Given the description of an element on the screen output the (x, y) to click on. 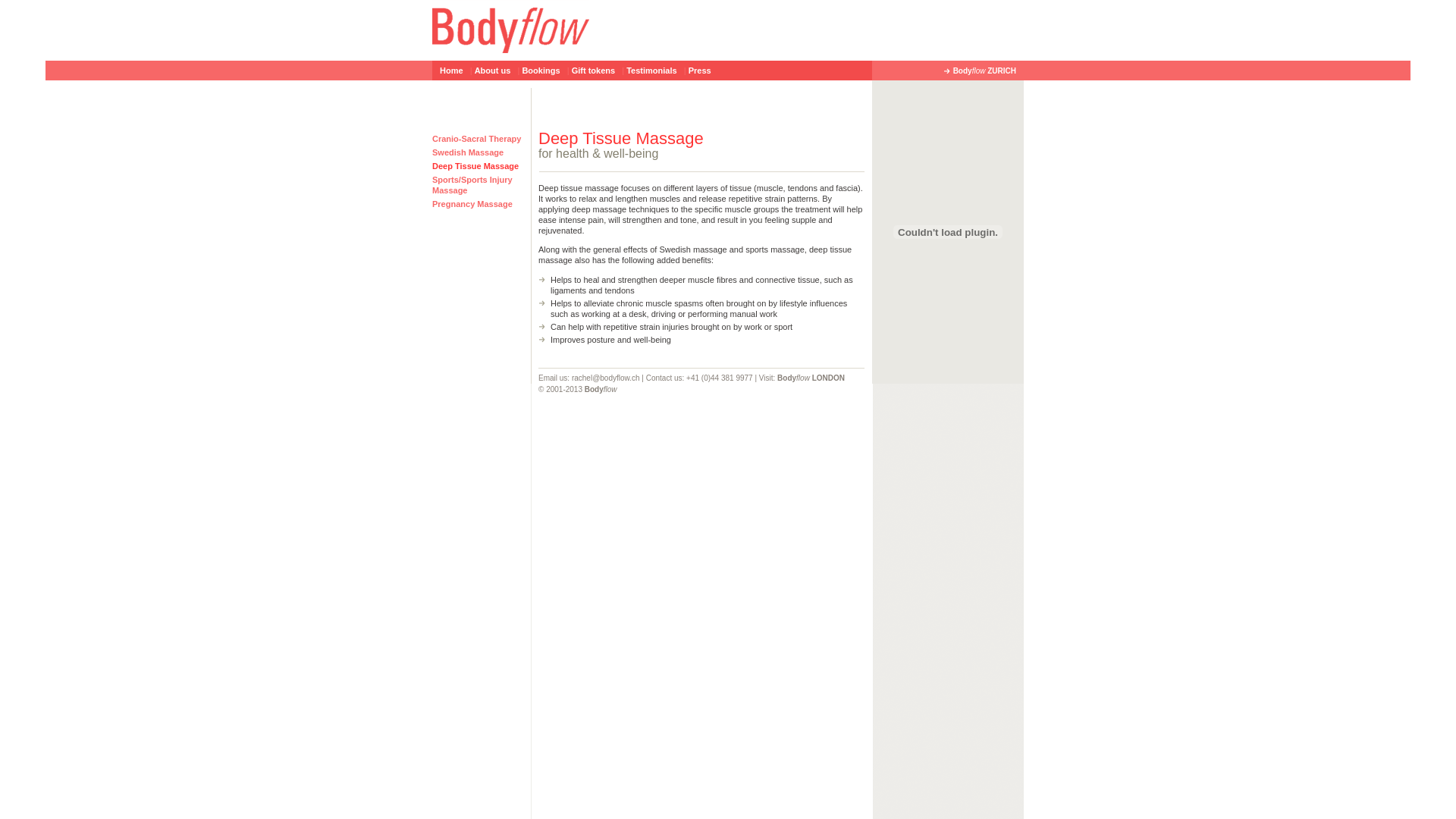
Cranio-Sacral Therapy Element type: text (476, 138)
Press Element type: text (699, 70)
About us Element type: text (492, 70)
Sports/Sports Injury Massage Element type: text (472, 184)
Bookings Element type: text (540, 70)
Deep Tissue Massage Element type: text (475, 165)
Gift tokens Element type: text (593, 70)
Home Element type: text (451, 70)
Testimonials Element type: text (651, 70)
Pregnancy Massage Element type: text (472, 203)
Swedish Massage Element type: text (467, 151)
Bodyflow LONDON Element type: text (810, 377)
rachel@bodyflow.ch Element type: text (605, 377)
